Given the description of an element on the screen output the (x, y) to click on. 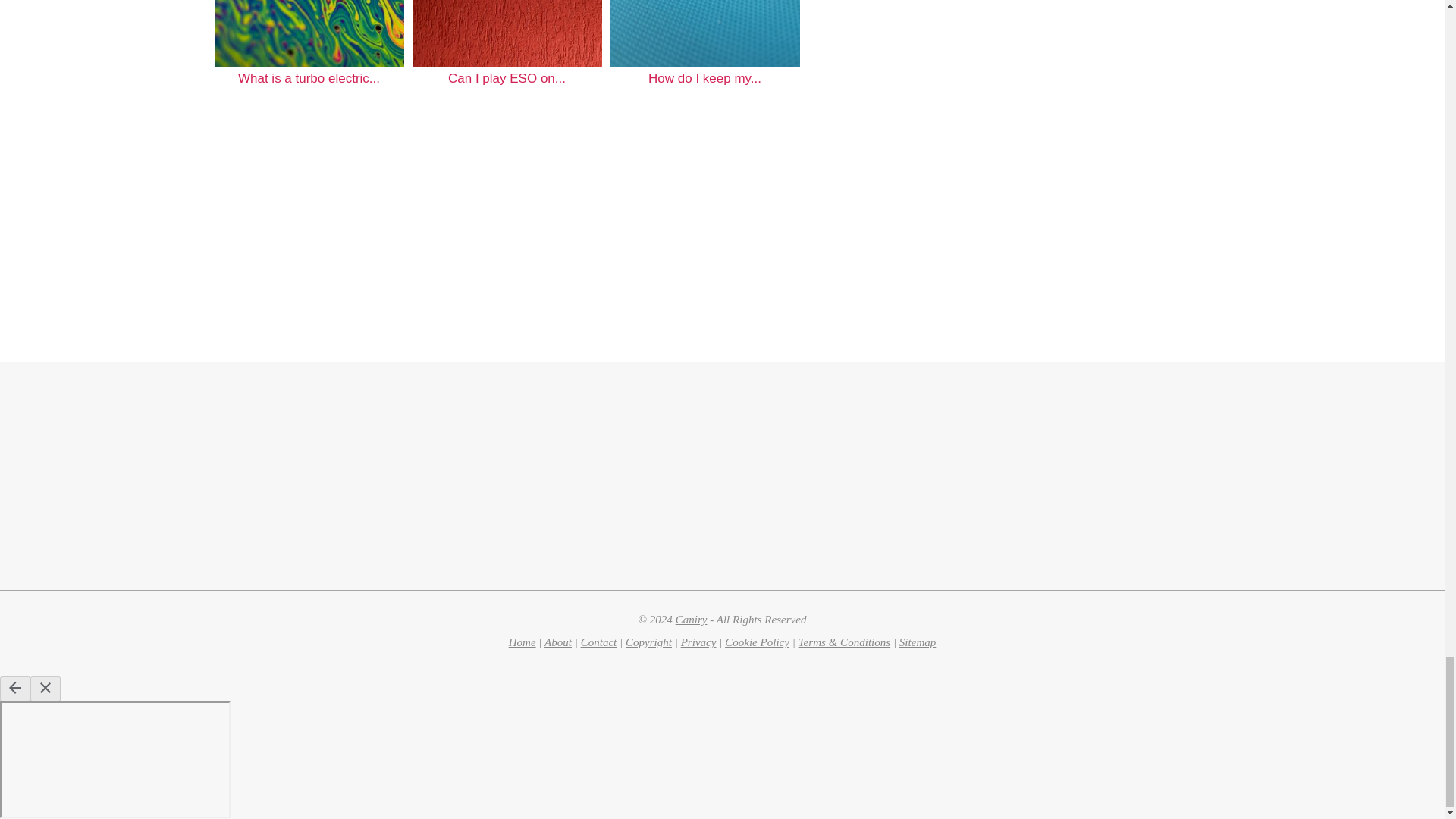
Can I play ESO on Steam? (507, 33)
What is a turbo electric engine? (308, 33)
How do I keep my engine in good condition? (704, 33)
